Given the description of an element on the screen output the (x, y) to click on. 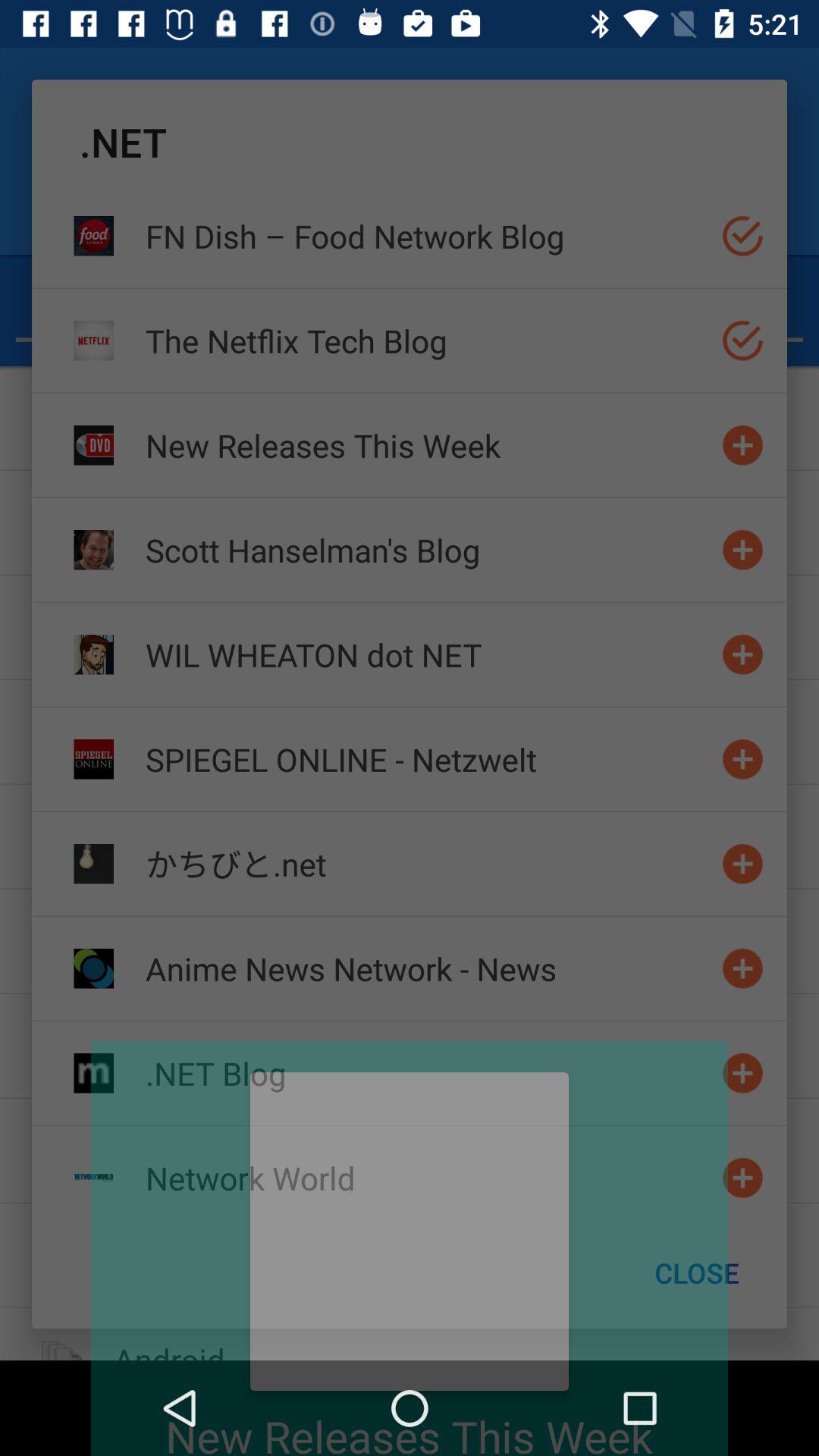
turn off the scott hanselman s icon (426, 549)
